Given the description of an element on the screen output the (x, y) to click on. 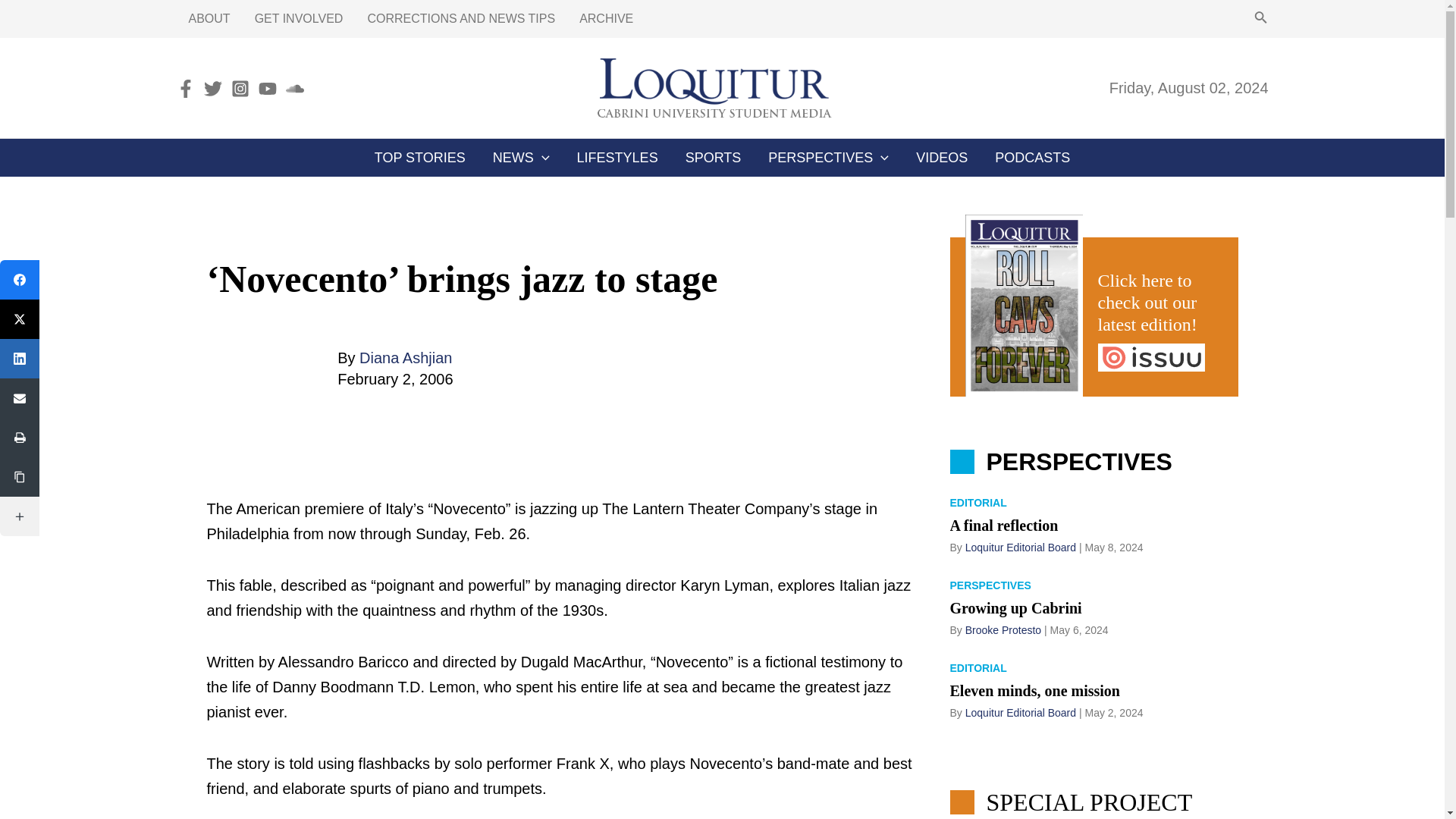
CORRECTIONS AND NEWS TIPS (461, 18)
PERSPECTIVES (828, 157)
GET INVOLVED (299, 18)
VIDEOS (941, 157)
PODCASTS (1032, 157)
TOP STORIES (420, 157)
LIFESTYLES (617, 157)
ARCHIVE (606, 18)
NEWS (521, 157)
SPORTS (713, 157)
ABOUT (208, 18)
